Given the description of an element on the screen output the (x, y) to click on. 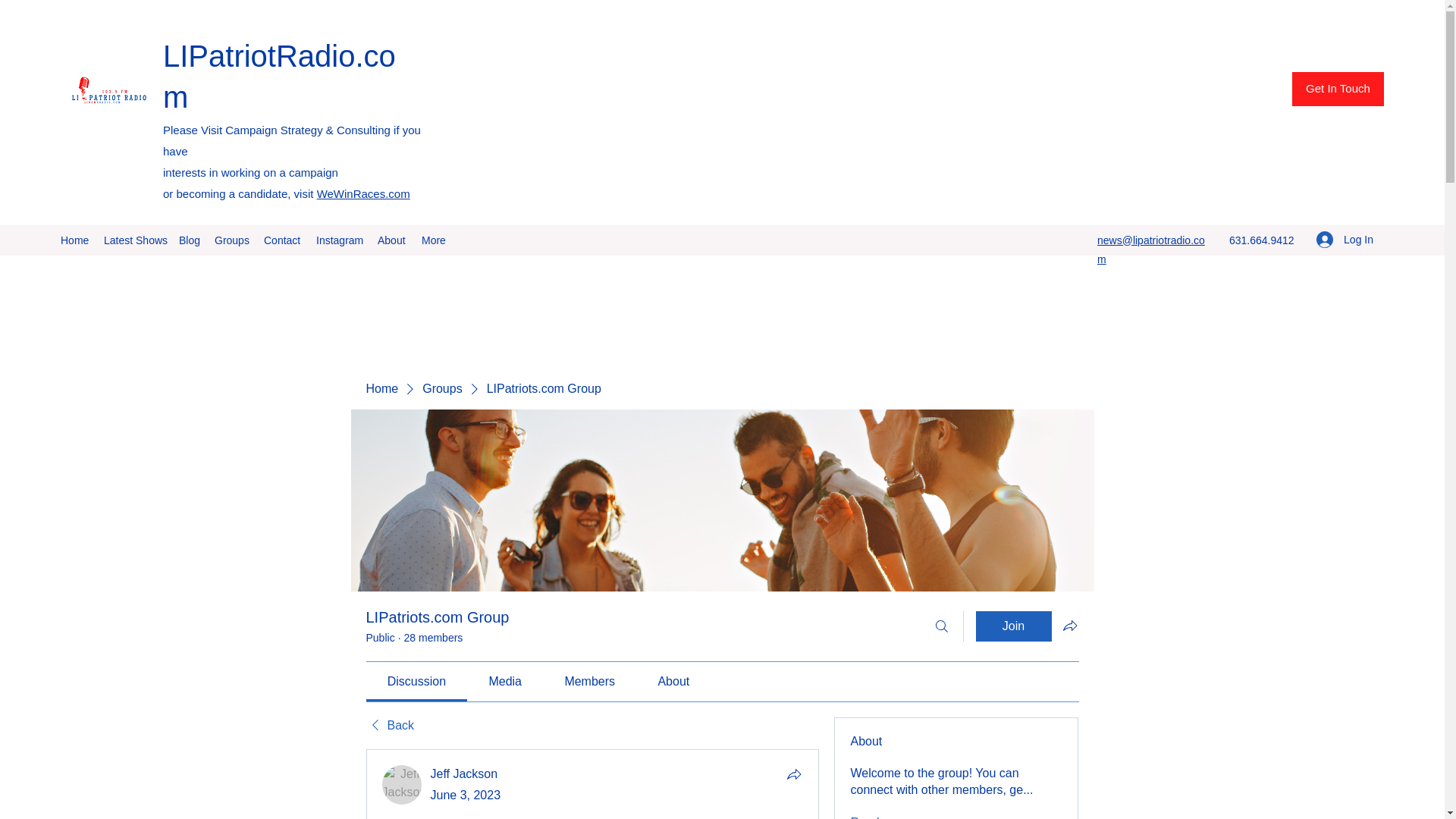
Groups (441, 388)
Log In (1345, 239)
Jeff Jackson (401, 784)
LIPatriotRadio.com (279, 76)
Home (381, 388)
Blog (188, 240)
Back (389, 725)
Read more (880, 816)
Latest Shows (133, 240)
Jeff Jackson (463, 773)
